Given the description of an element on the screen output the (x, y) to click on. 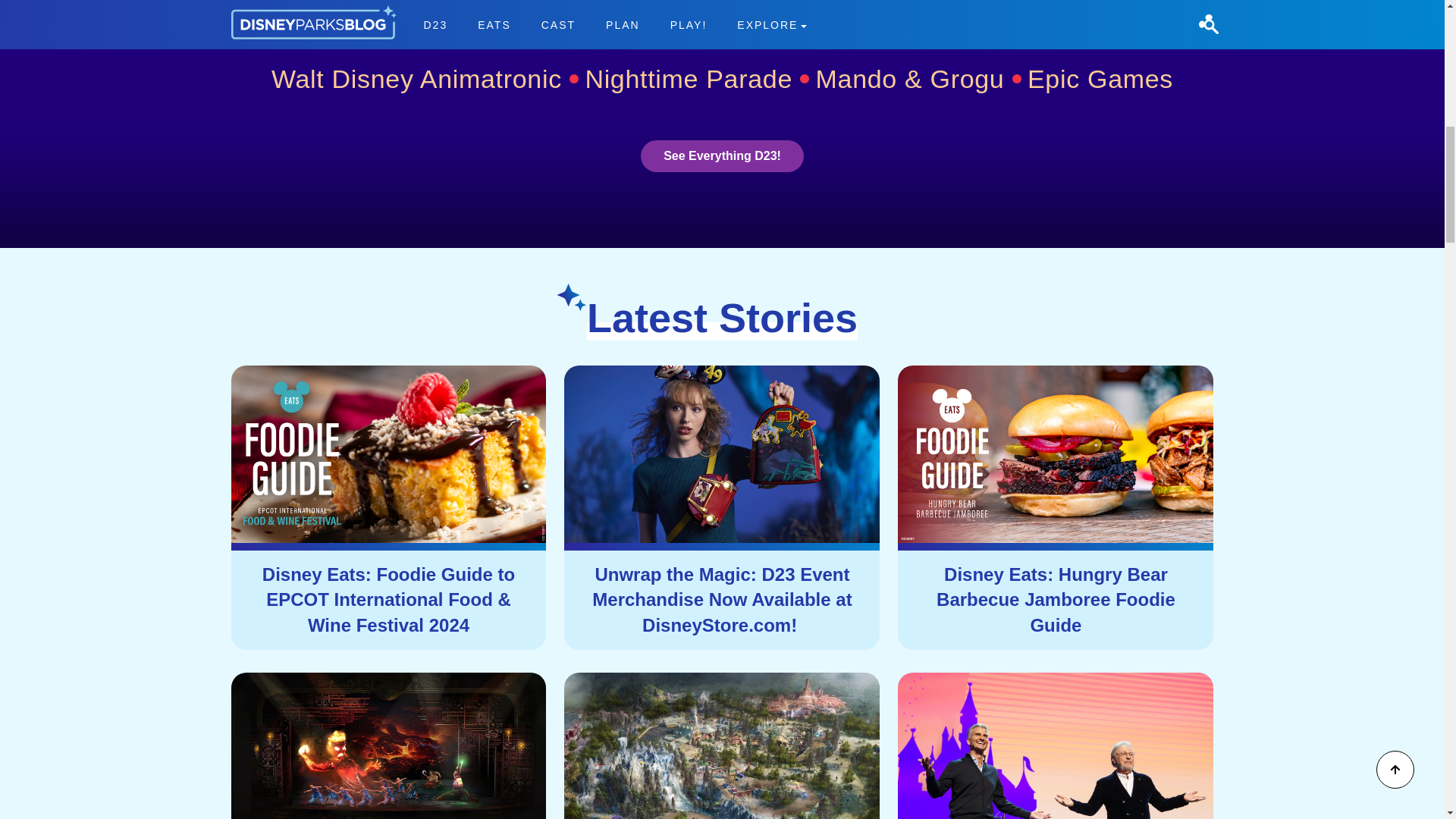
Nighttime Parade (697, 78)
See Everything D23! (721, 155)
Tropical Americas (834, 18)
Walt Disney Animatronic (424, 78)
Epic Games (1100, 78)
Lion King Ride (809, 18)
